Given the description of an element on the screen output the (x, y) to click on. 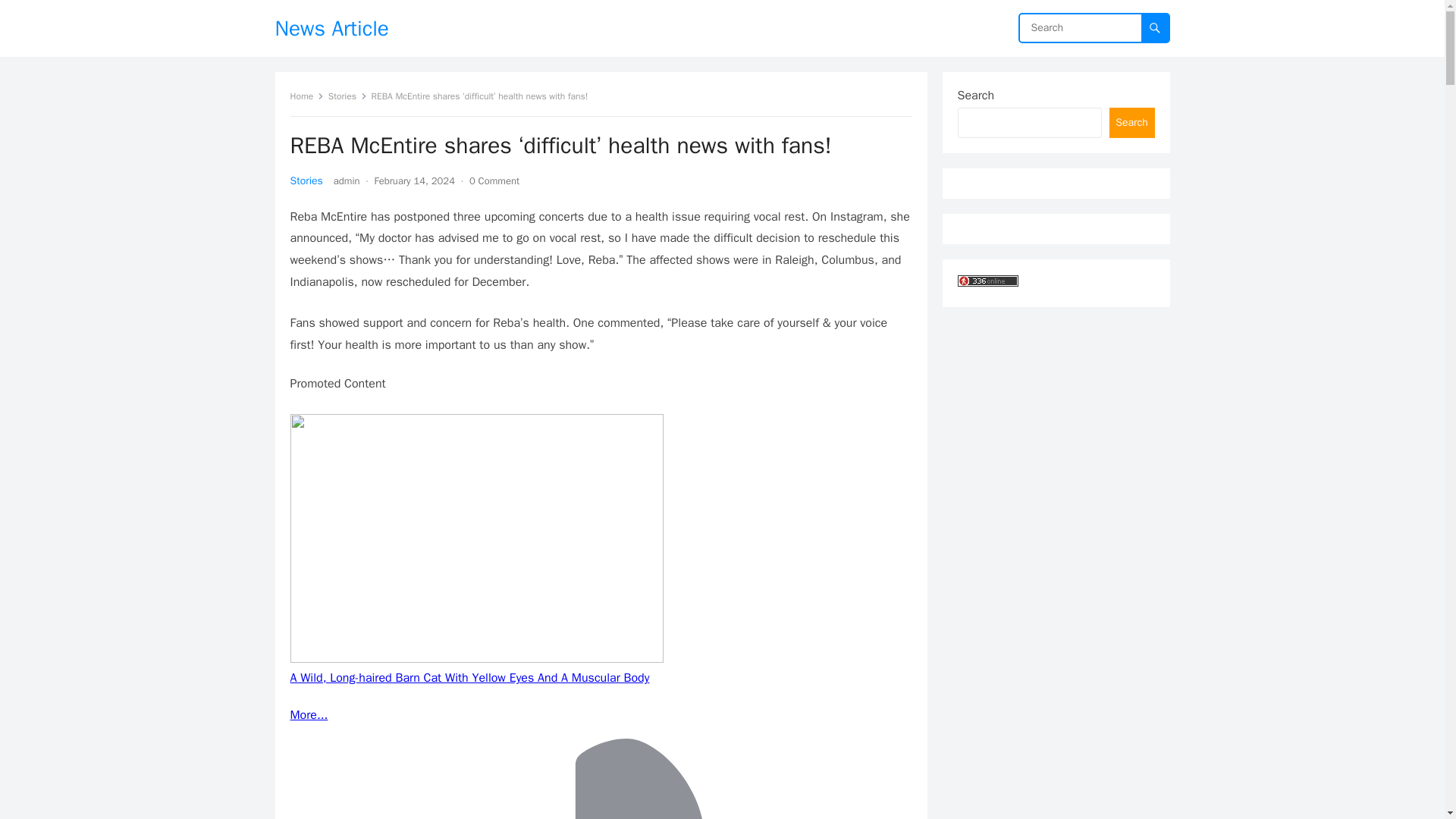
Home (306, 96)
Stories (305, 180)
Posts by admin (346, 180)
Click to see what's popular on this site! (986, 280)
News Article (331, 28)
Stories (347, 96)
admin (346, 180)
0 Comment (493, 180)
